Given the description of an element on the screen output the (x, y) to click on. 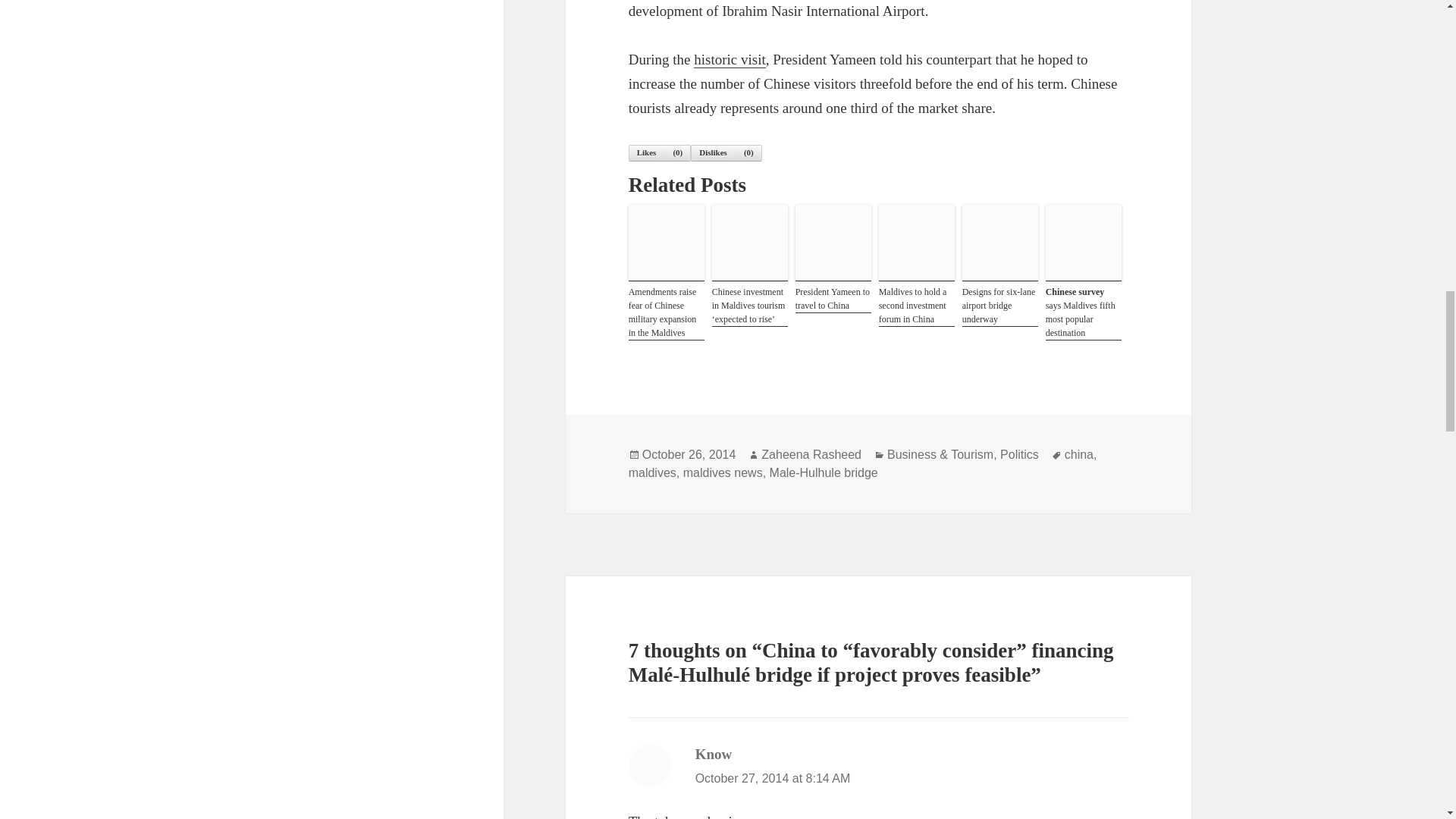
Designs for six-lane airport bridge underway (1000, 305)
Politics (1019, 454)
Zaheena Rasheed (811, 454)
Chinese survey says Maldives fifth most popular destination (1083, 312)
china (1078, 454)
October 26, 2014 (689, 454)
Maldives to hold a second investment forum in China (917, 305)
President Yameen to travel to China (832, 298)
maldives (652, 472)
historic visit (729, 59)
